Given the description of an element on the screen output the (x, y) to click on. 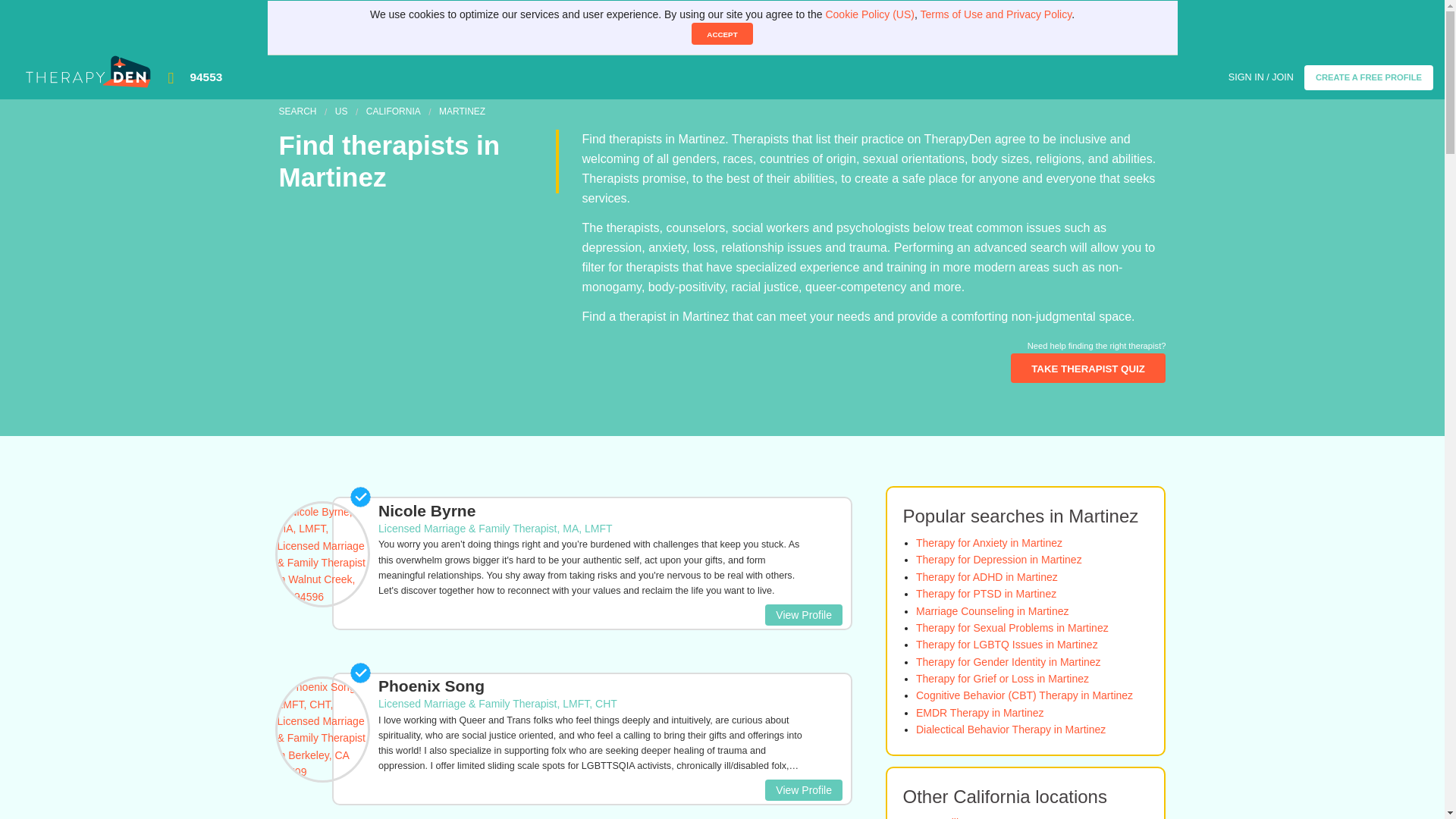
Search therapists across America (340, 111)
Advanced Therapist Search (1088, 367)
Search therapists (298, 111)
Search therapists in California (393, 111)
94553 (700, 77)
ACCEPT (721, 33)
TAKE THERAPIST QUIZ (1088, 367)
Nicole Byrne in Walnut Creek, CA 94596 (591, 549)
View Profile (804, 614)
SEARCH (298, 111)
